Given the description of an element on the screen output the (x, y) to click on. 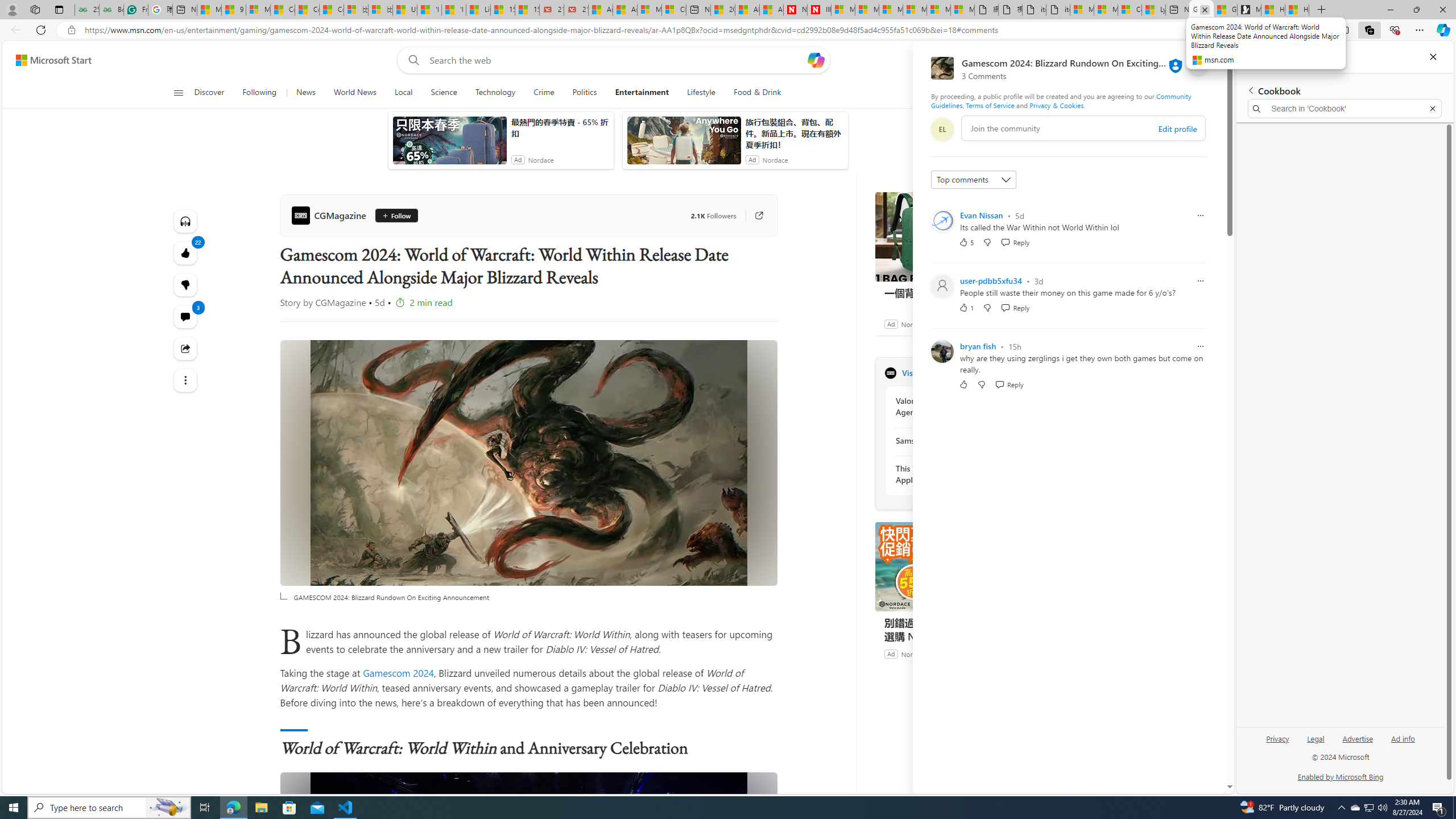
USA TODAY - MSN (404, 9)
